Given the description of an element on the screen output the (x, y) to click on. 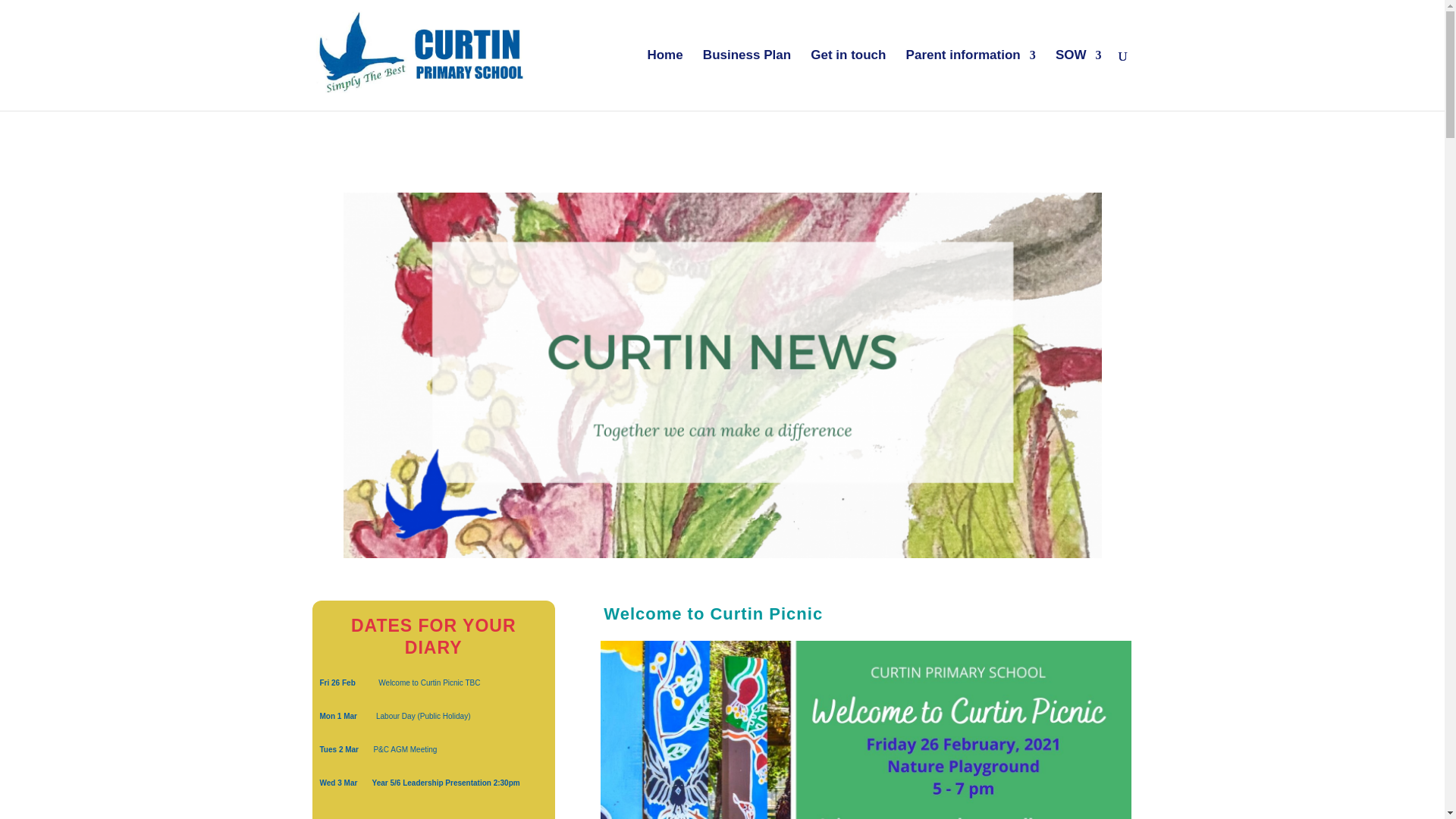
Get in touch (847, 79)
Business Plan (746, 79)
Parent information (970, 79)
Welcome Picnic (865, 729)
